Given the description of an element on the screen output the (x, y) to click on. 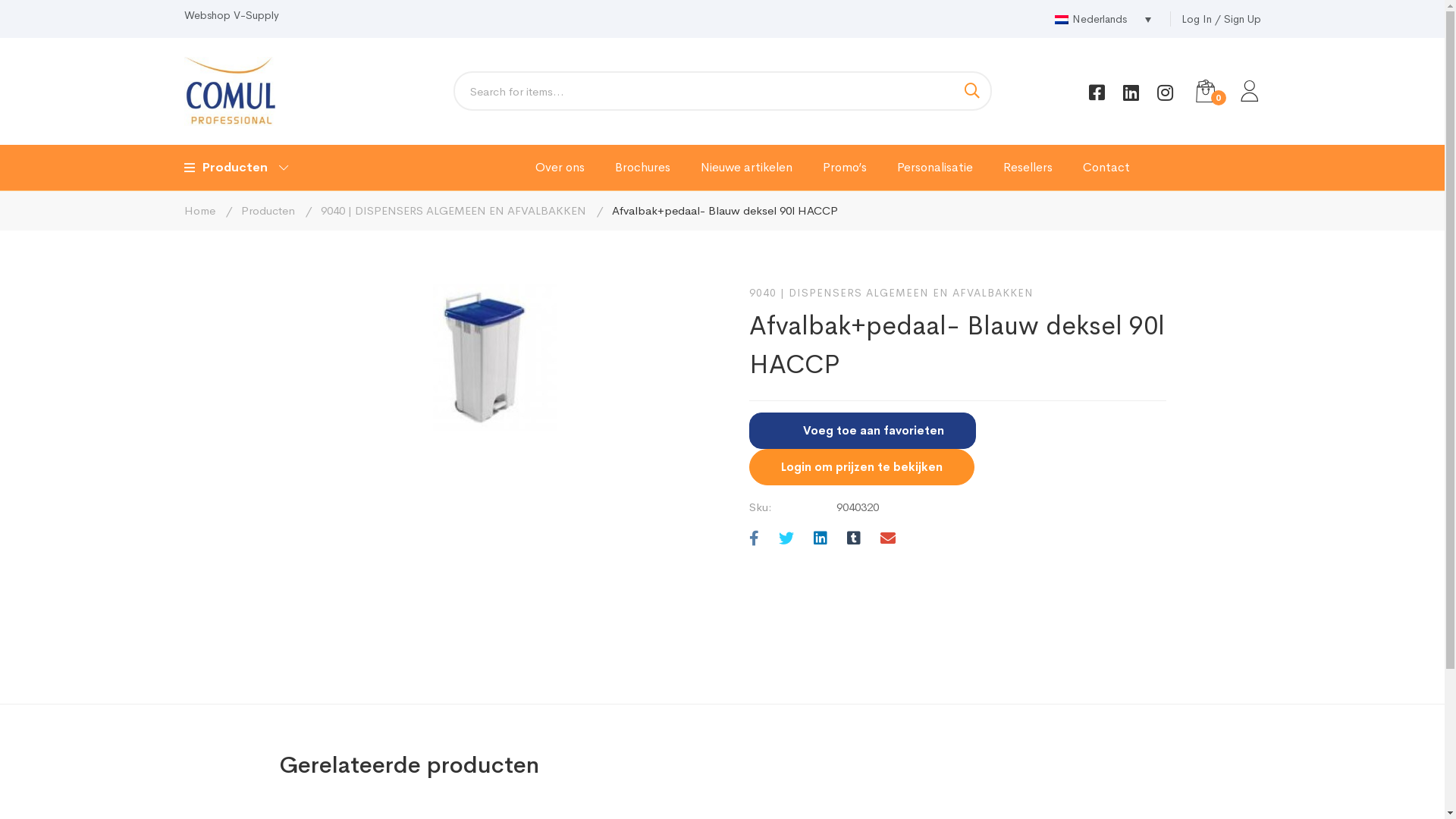
Producten Element type: text (235, 167)
Brochures Element type: text (641, 167)
Home Element type: text (198, 209)
View your shopping cart Element type: hover (1204, 90)
Login om prijzen te bekijken Element type: text (861, 466)
Resellers Element type: text (1026, 167)
Log In / Sign Up Element type: text (1220, 19)
Producten Element type: text (267, 209)
Nieuwe artikelen Element type: text (746, 167)
Nederlands Element type: text (1101, 18)
9040 | DISPENSERS ALGEMEEN EN AFVALBAKKEN Element type: text (891, 292)
Search for: Element type: hover (722, 90)
Over ons Element type: text (559, 167)
Voeg toe aan favorieten Element type: text (862, 430)
Personalisatie Element type: text (933, 167)
Webshop V-Supply Element type: text (230, 15)
Contact Element type: text (1106, 167)
9040 | DISPENSERS ALGEMEEN EN AFVALBAKKEN Element type: text (452, 209)
